Given the description of an element on the screen output the (x, y) to click on. 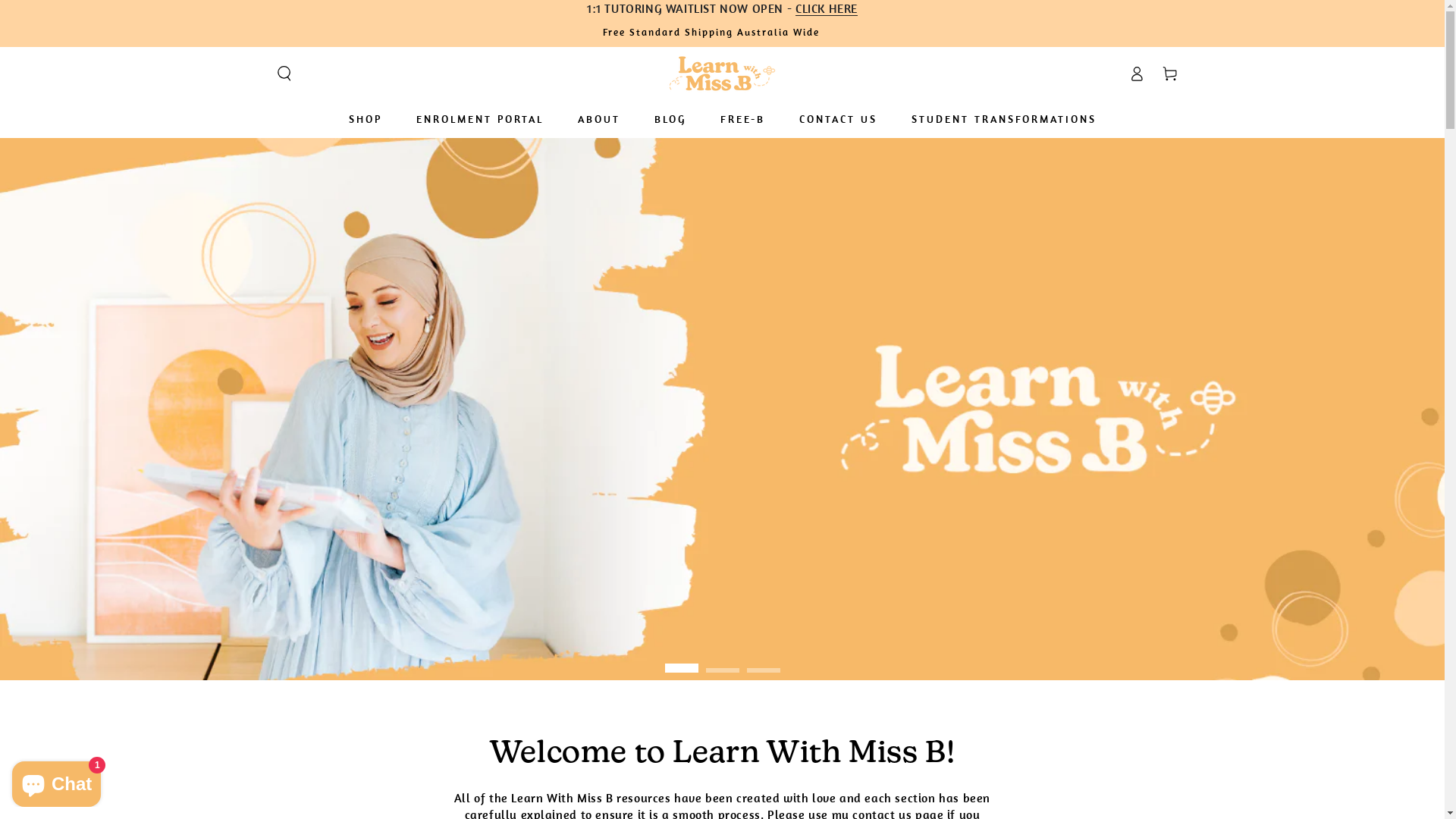
View slide 1 Element type: text (680, 659)
Log in Element type: text (1135, 73)
View slide 3 Element type: text (762, 659)
ABOUT Element type: text (597, 119)
BLOG Element type: text (670, 119)
STUDENT TRANSFORMATIONS Element type: text (1003, 119)
Shopify online store chat Element type: hover (56, 780)
ENROLMENT PORTAL Element type: text (479, 119)
CONTACT US Element type: text (837, 119)
SHOP Element type: text (364, 119)
FREE-B Element type: text (741, 119)
CLICK HERE Element type: text (826, 7)
View slide 2 Element type: text (721, 659)
